Given the description of an element on the screen output the (x, y) to click on. 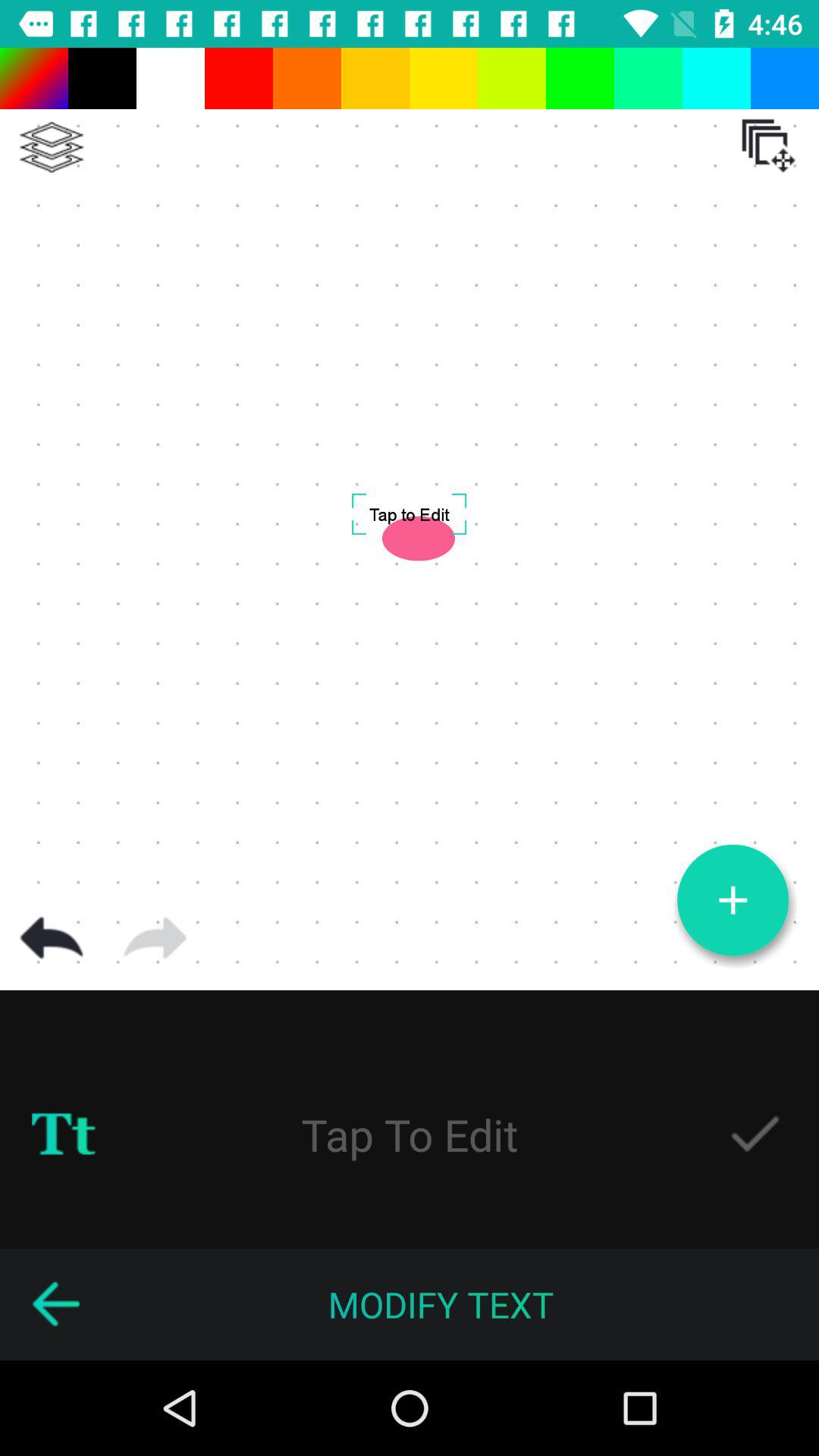
move layer (768, 145)
